Given the description of an element on the screen output the (x, y) to click on. 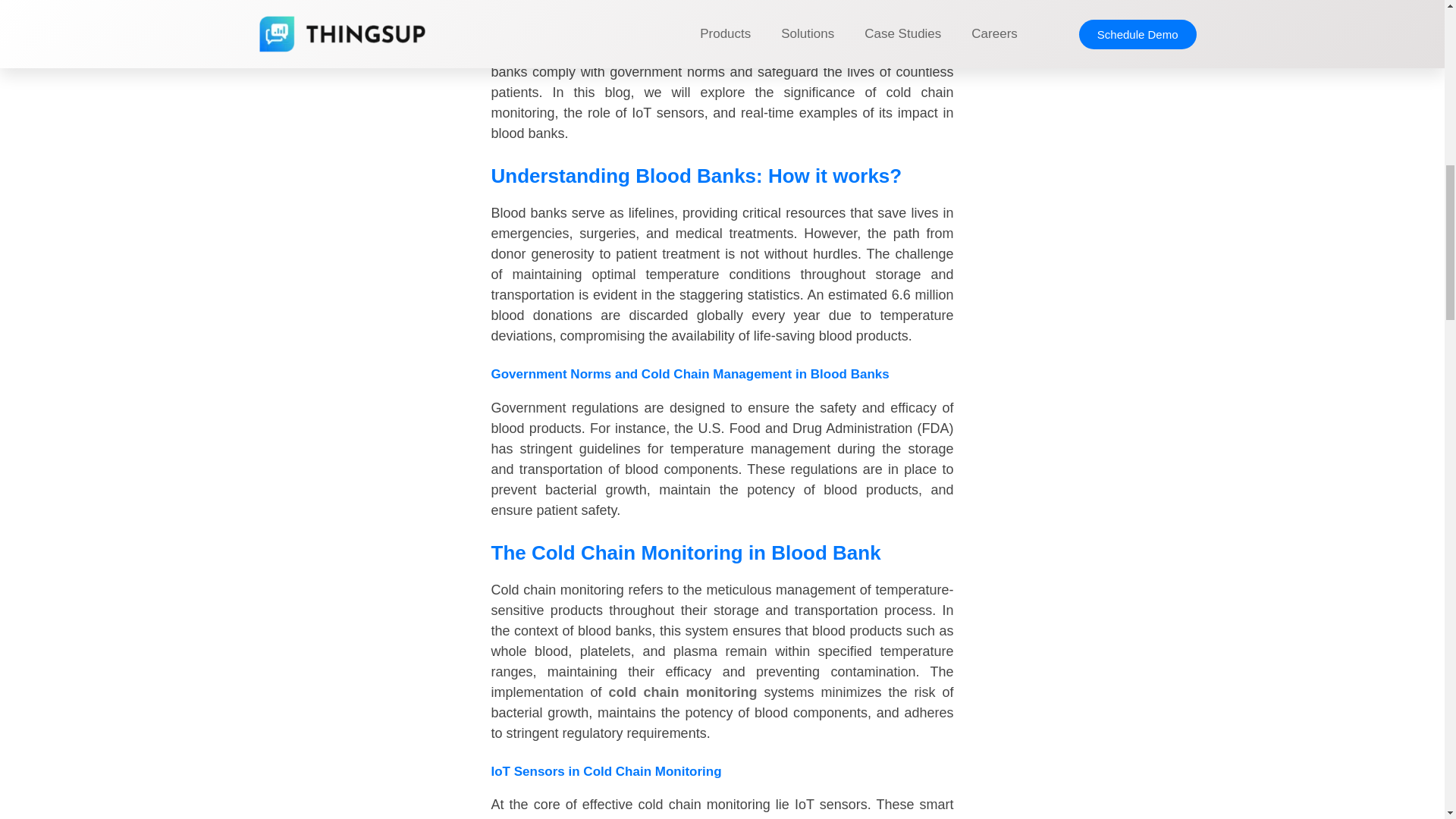
Scroll back to top (1406, 720)
